Given the description of an element on the screen output the (x, y) to click on. 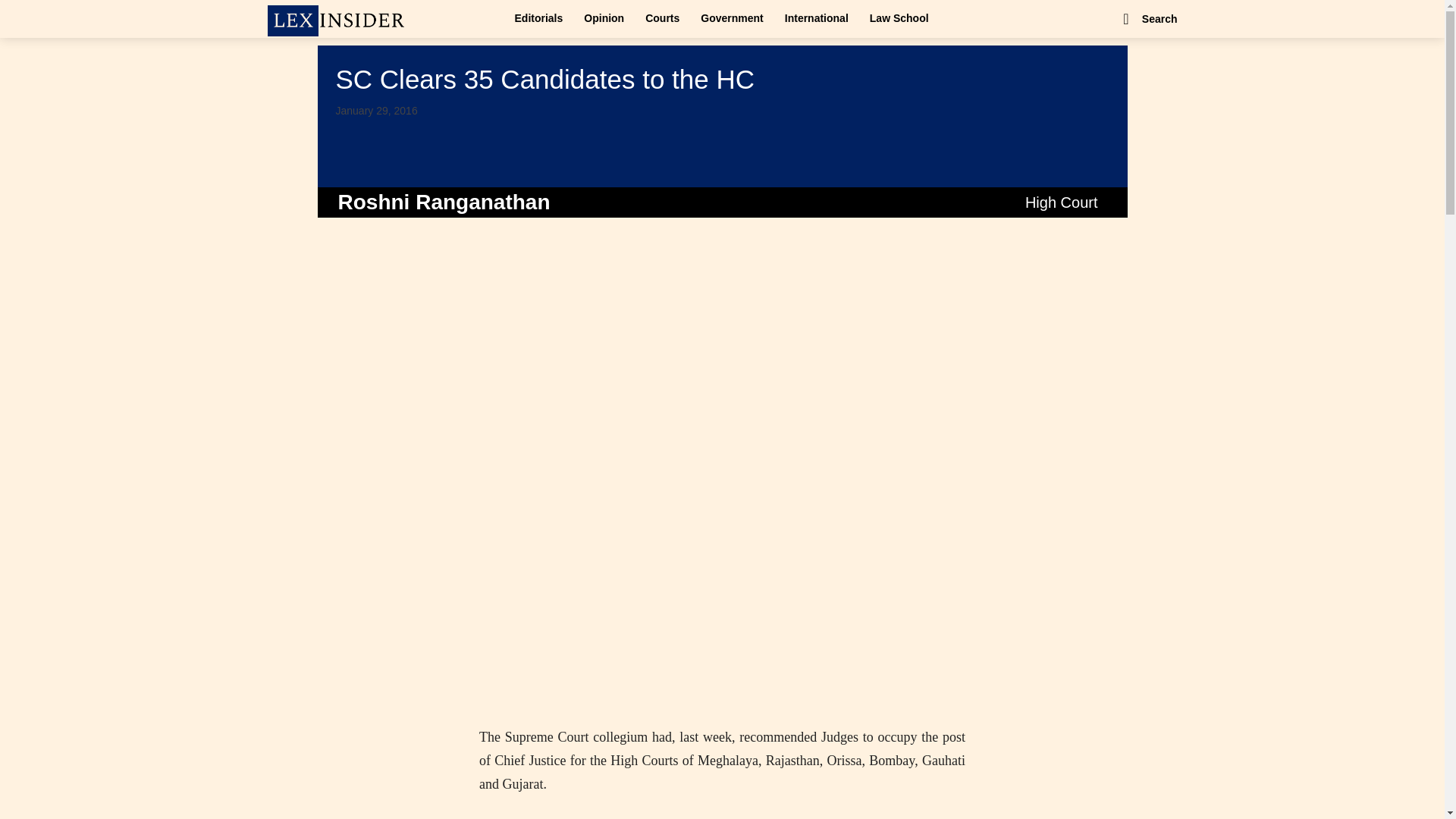
Law School (899, 18)
Government (731, 18)
Opinion (603, 18)
Courts (662, 18)
Search (1147, 18)
Editorials (538, 18)
International (816, 18)
